Given the description of an element on the screen output the (x, y) to click on. 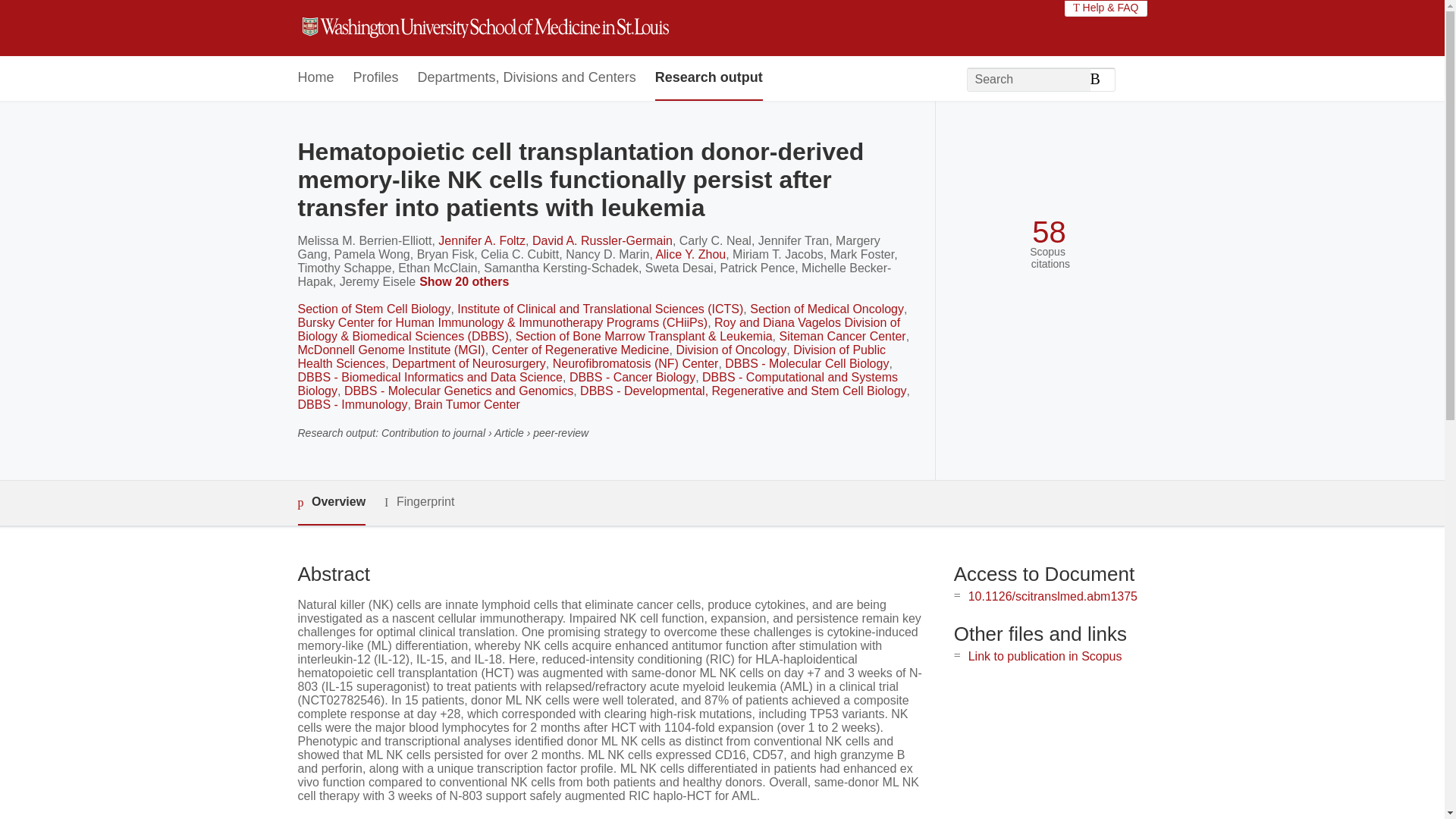
Section of Stem Cell Biology (373, 308)
Jennifer A. Foltz (481, 240)
Section of Medical Oncology (826, 308)
Research output (708, 78)
Siteman Cancer Center (841, 336)
Alice Y. Zhou (690, 254)
Profiles (375, 78)
Division of Public Health Sciences (591, 356)
David A. Russler-Germain (602, 240)
